Given the description of an element on the screen output the (x, y) to click on. 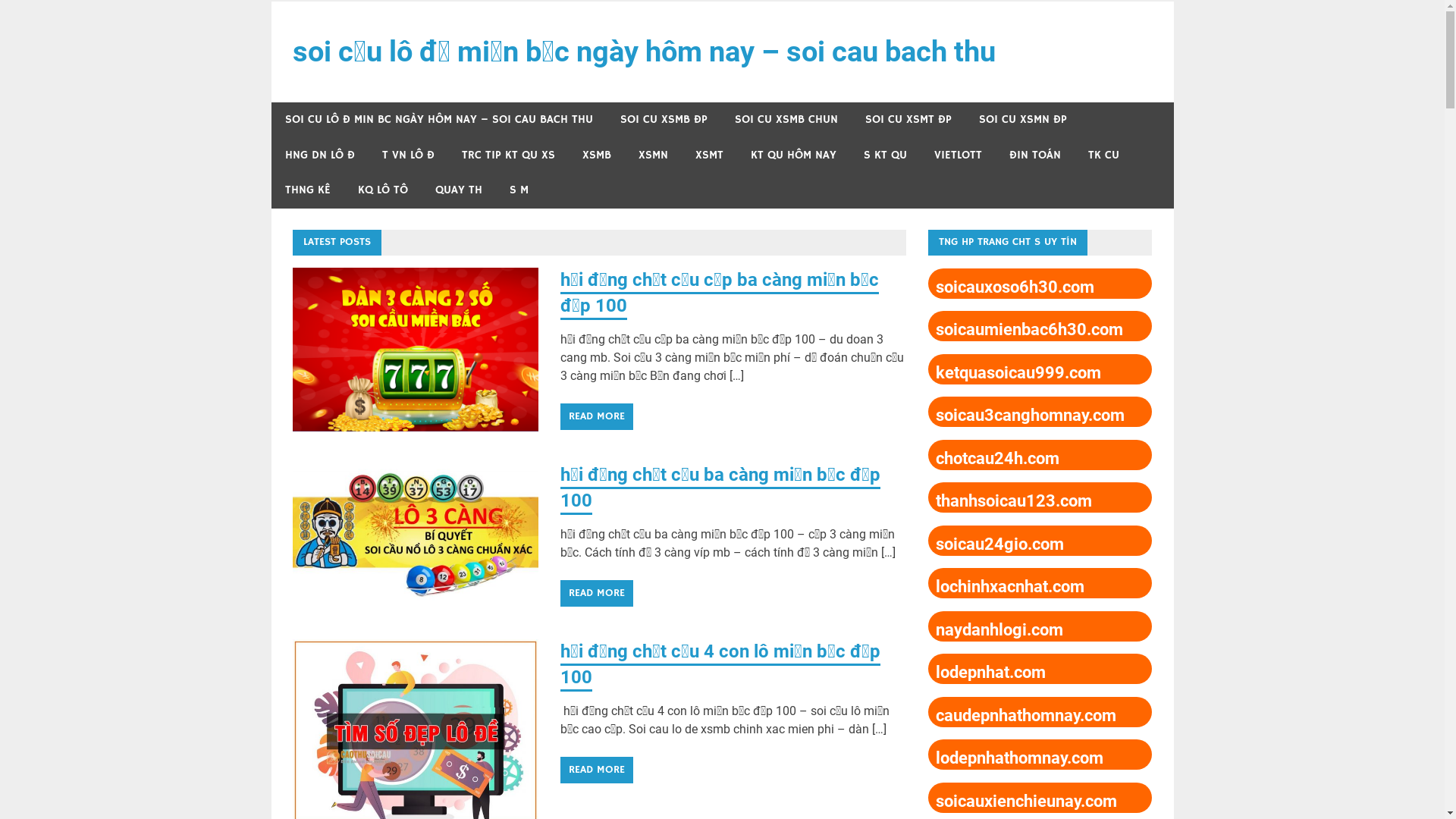
soicau3canghomnay.com Element type: text (1029, 414)
XSMT Element type: text (708, 155)
XSMN Element type: text (652, 155)
VIETLOTT Element type: text (957, 155)
soicaumienbac6h30.com Element type: text (1029, 329)
chotcau24h.com Element type: text (997, 457)
soicauxoso6h30.com Element type: text (1014, 286)
Skip to content Element type: text (271, 0)
ketquasoicau999.com Element type: text (1018, 372)
READ MORE Element type: text (596, 769)
caudepnhathomnay.com Element type: text (1025, 715)
READ MORE Element type: text (596, 416)
lodepnhat.com Element type: text (990, 671)
lochinhxacnhat.com Element type: text (1009, 586)
lodepnhathomnay.com Element type: text (1019, 757)
READ MORE Element type: text (596, 593)
soicauxienchieunay.com Element type: text (1026, 800)
XSMB Element type: text (596, 155)
thanhsoicau123.com Element type: text (1013, 500)
naydanhlogi.com Element type: text (999, 629)
soicau24gio.com Element type: text (999, 543)
